Given the description of an element on the screen output the (x, y) to click on. 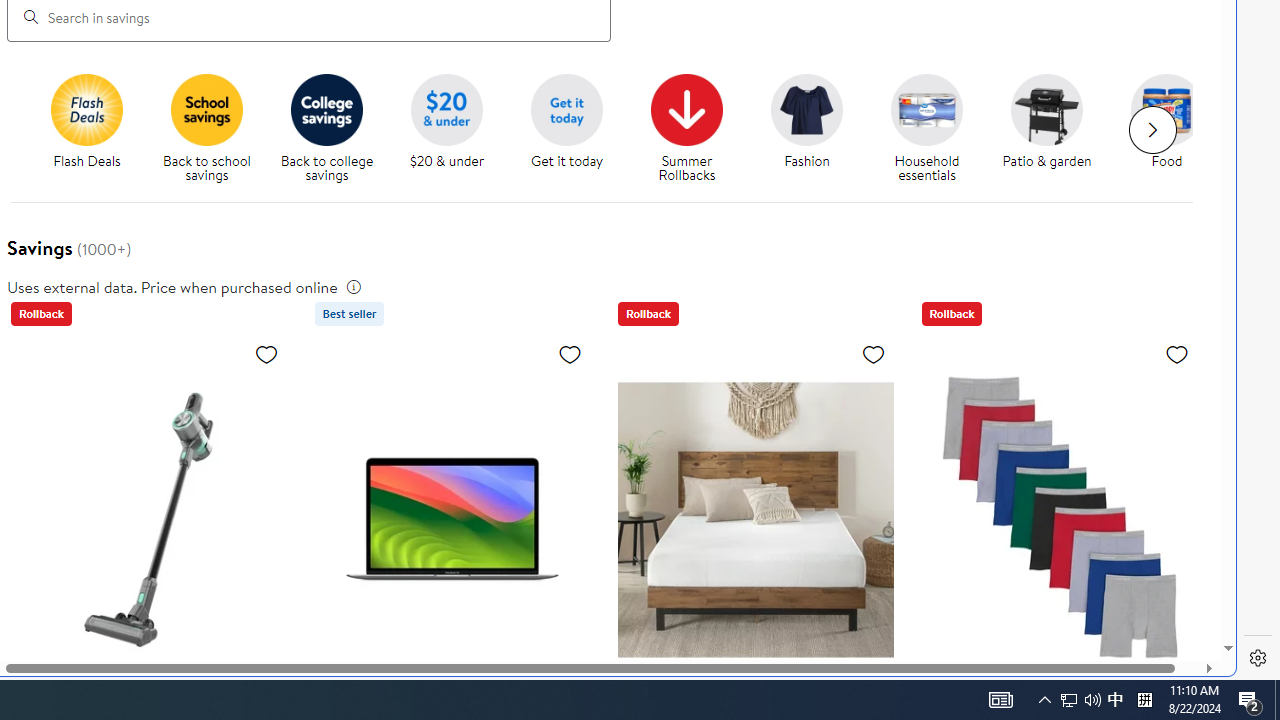
Back to College savings (326, 109)
Patio & garden (1046, 109)
Hanes Men's Super Value Pack Assorted Boxer Briefs, 10 Pack (1058, 519)
Flash deals (86, 109)
Food Food (1166, 122)
Zinus Spa Sensations Serenity 8" Memory Foam Mattress, Full (755, 519)
Back to College savings Back to college savings (326, 128)
Summer Rollbacks Summer Rollbacks (686, 128)
Fashion (806, 109)
Flash Deals (94, 128)
$20 & under (454, 128)
Summer Rollbacks (687, 109)
